Given the description of an element on the screen output the (x, y) to click on. 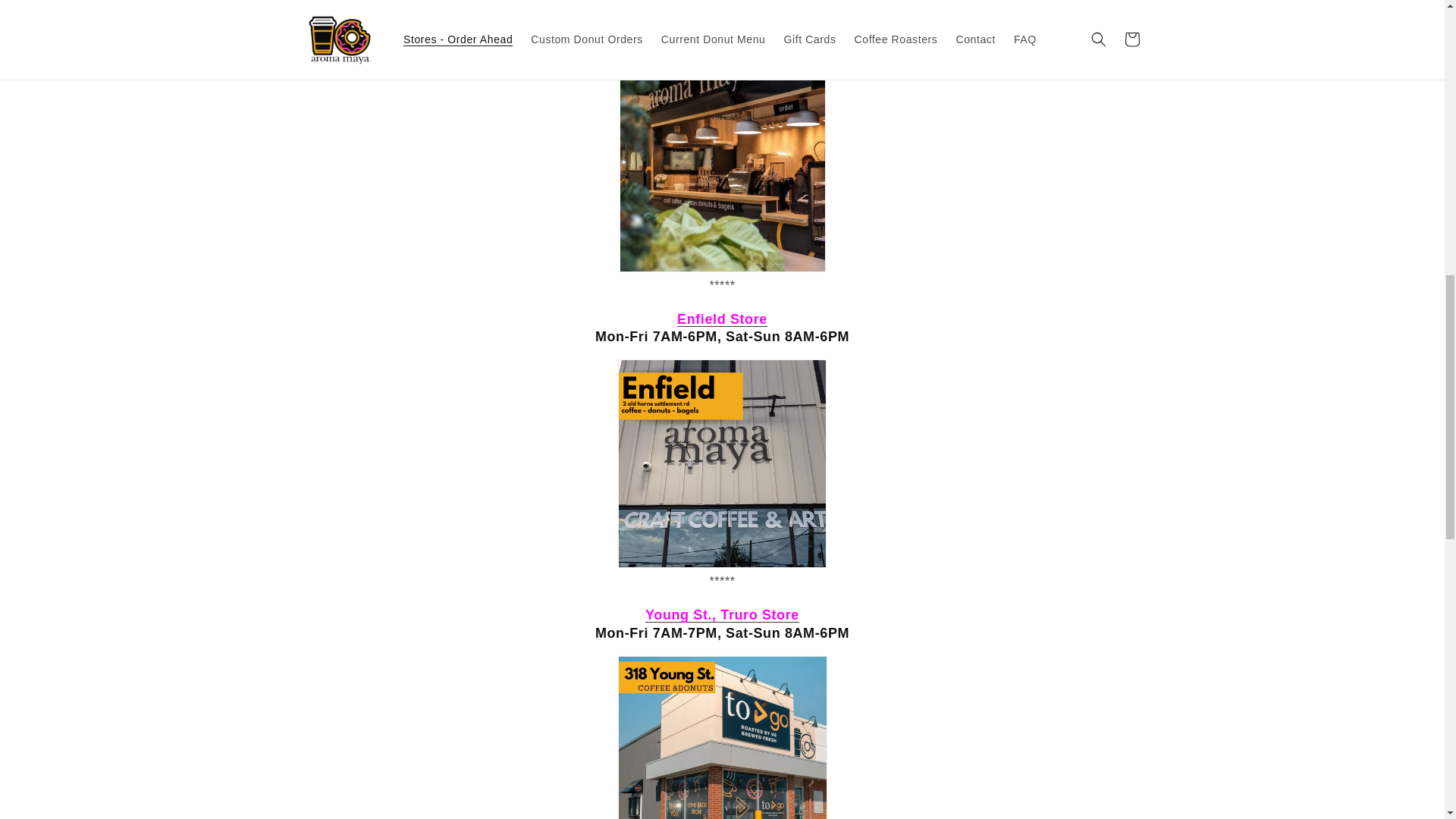
Enfield Store (722, 319)
Enfield Store Order Ahead (721, 473)
Enfield - Pre-order (722, 319)
Young St., Truro Store (722, 614)
Young St. - Order Ahead (722, 614)
Young St. - Order Ahead (721, 737)
